Given the description of an element on the screen output the (x, y) to click on. 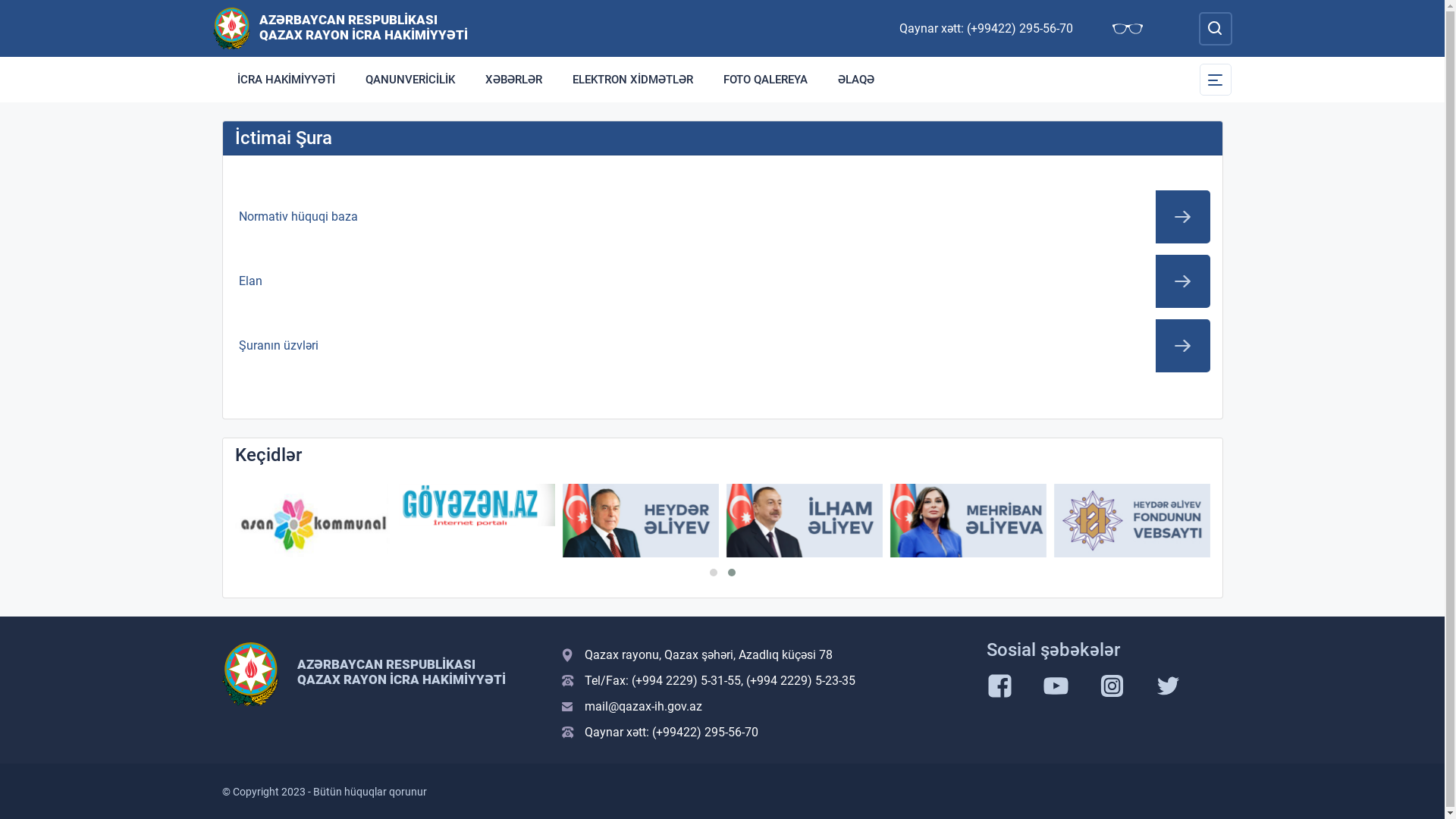
FOTO QALEREYA Element type: text (765, 79)
Asan komunal Element type: hover (313, 520)
Elan Element type: text (722, 280)
QANUNVERICILIK Element type: text (410, 79)
mail@qazax-ih.gov.az Element type: text (764, 706)
